Given the description of an element on the screen output the (x, y) to click on. 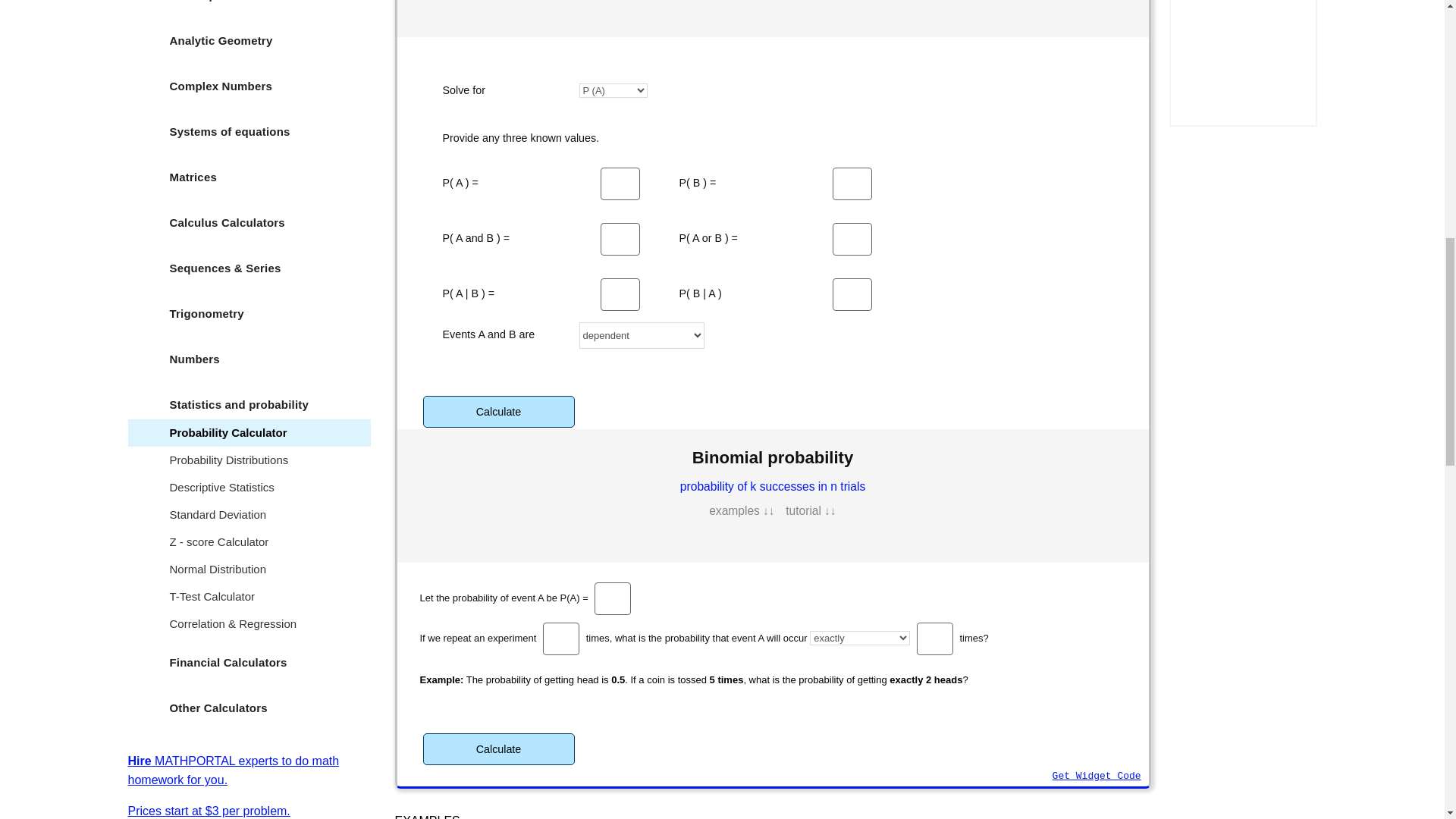
Calculate (499, 748)
Get Widget Code (1096, 776)
Calculate (499, 411)
